Given the description of an element on the screen output the (x, y) to click on. 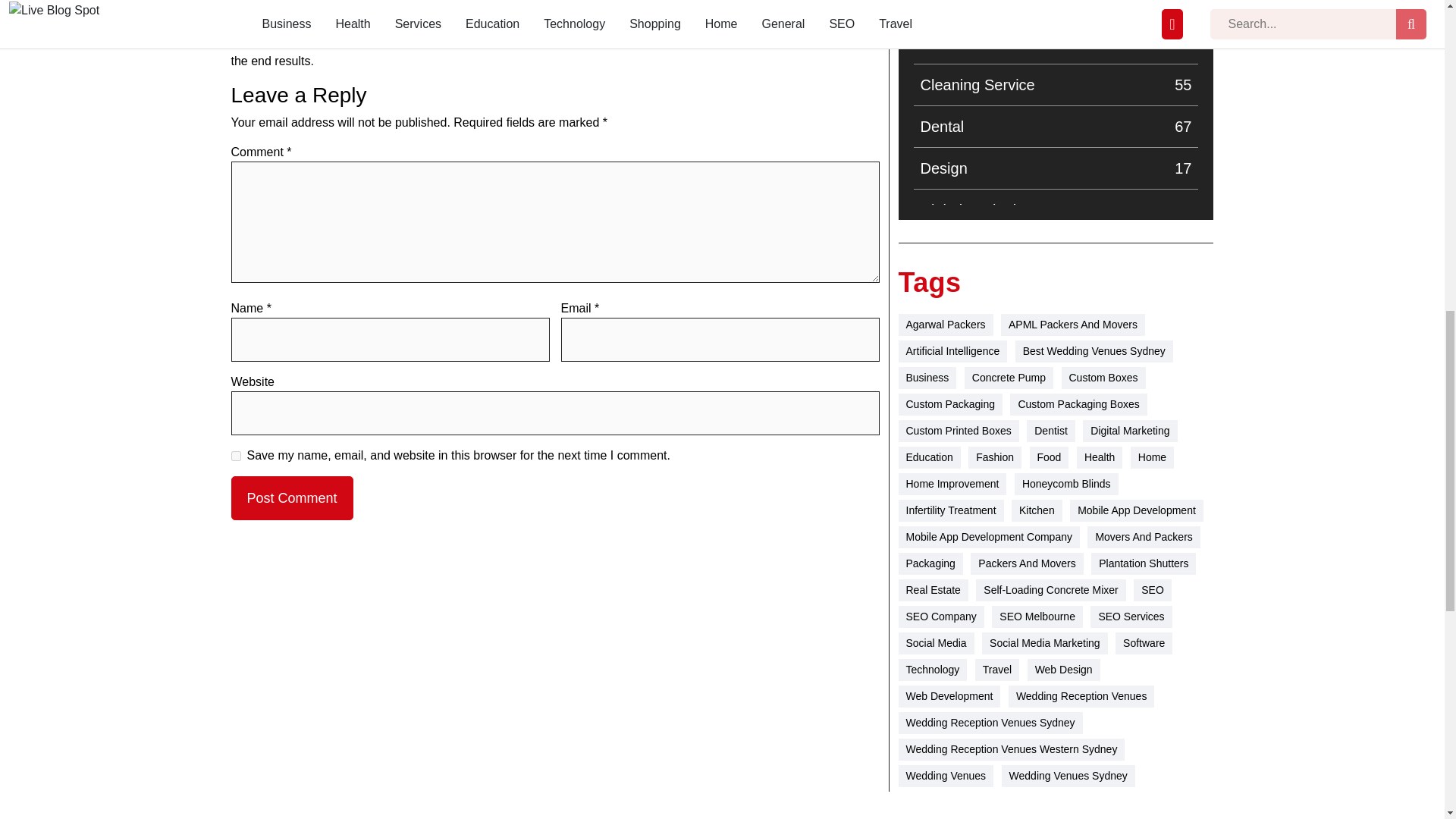
Post Comment (291, 497)
Product Photography Services (1056, 251)
Post Comment (1056, 334)
yes (356, 24)
